Given the description of an element on the screen output the (x, y) to click on. 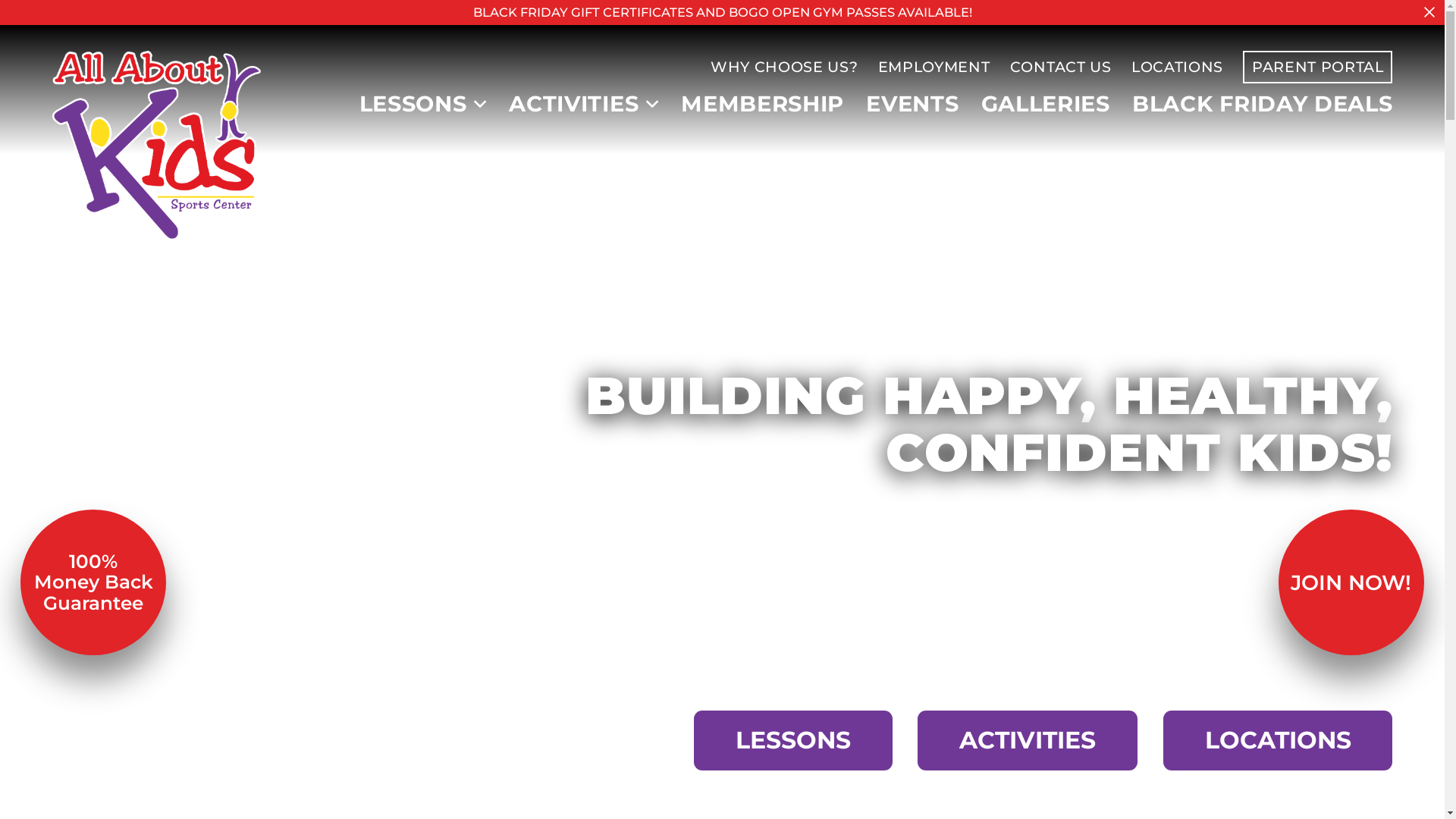
All About Kids Element type: hover (156, 145)
LOCATIONS Element type: text (1278, 740)
LESSONS Element type: text (792, 740)
ACTIVITIES Element type: text (1027, 740)
WHY CHOOSE US? Element type: text (784, 66)
CONTACT US Element type: text (1060, 66)
BLACK FRIDAY DEALS Element type: text (1262, 104)
EVENTS Element type: text (912, 104)
LESSONS Element type: text (413, 104)
GALLERIES Element type: text (1045, 104)
MEMBERSHIP Element type: text (762, 104)
100%
Money Back Guarantee Element type: text (93, 582)
EMPLOYMENT Element type: text (934, 66)
ACTIVITIES Element type: text (573, 104)
LOCATIONS Element type: text (1177, 66)
PARENT PORTAL Element type: text (1317, 66)
